Given the description of an element on the screen output the (x, y) to click on. 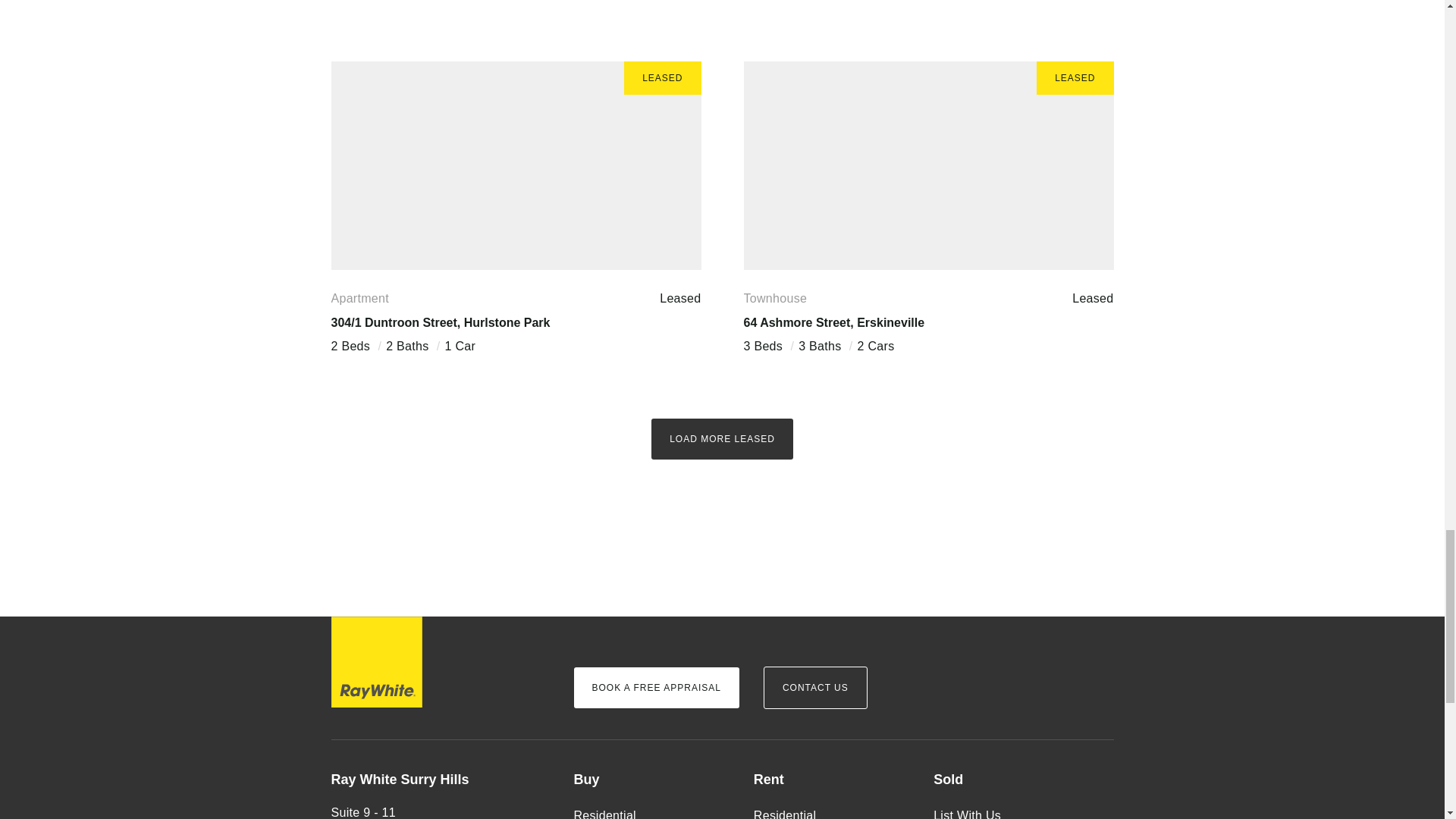
Ray White (376, 661)
LEASED (927, 165)
LEASED (515, 165)
LOAD MORE LEASED (721, 438)
64 Ashmore Street, Erskineville (833, 322)
